Given the description of an element on the screen output the (x, y) to click on. 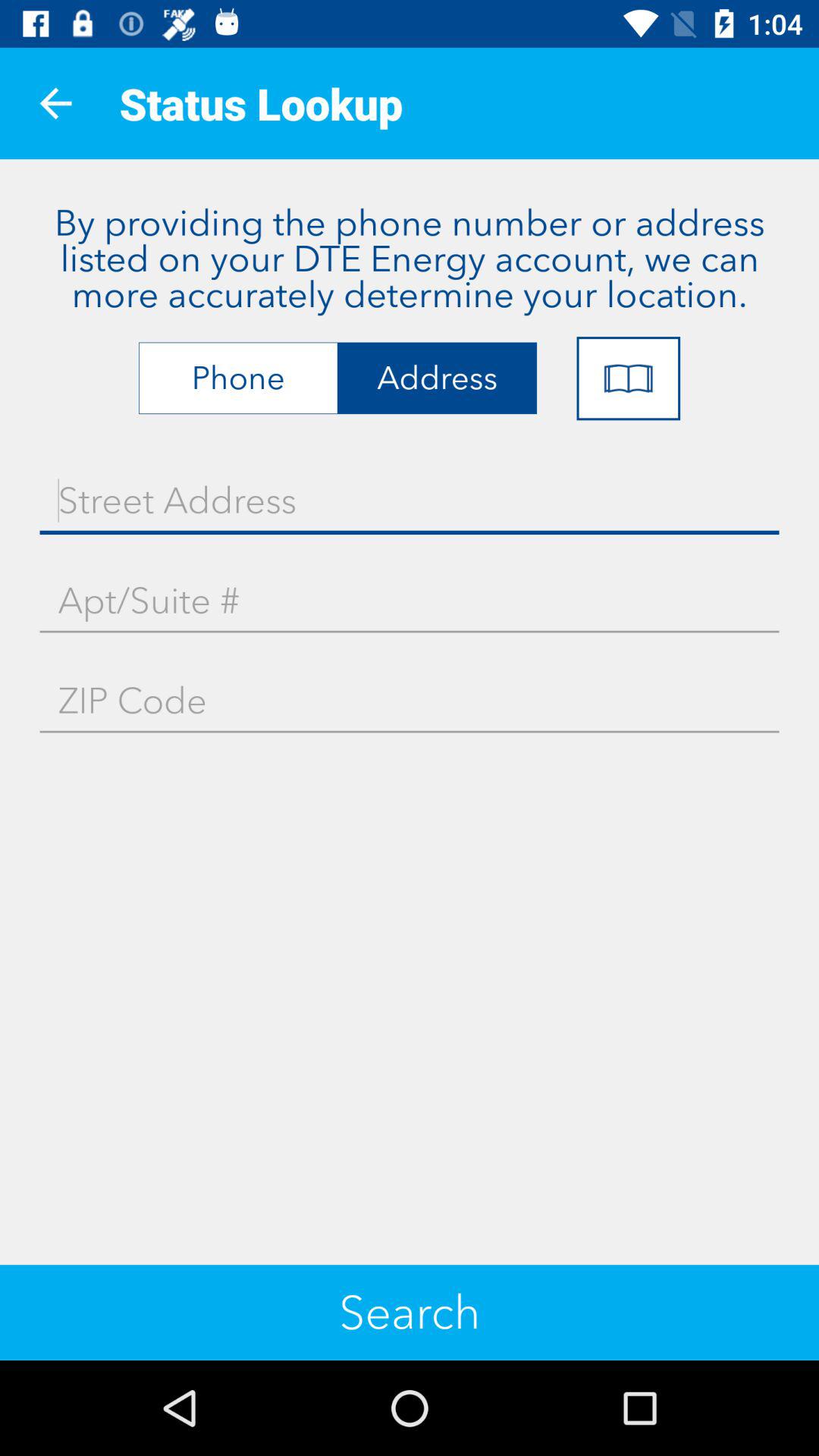
open icon next to the address item (628, 378)
